Given the description of an element on the screen output the (x, y) to click on. 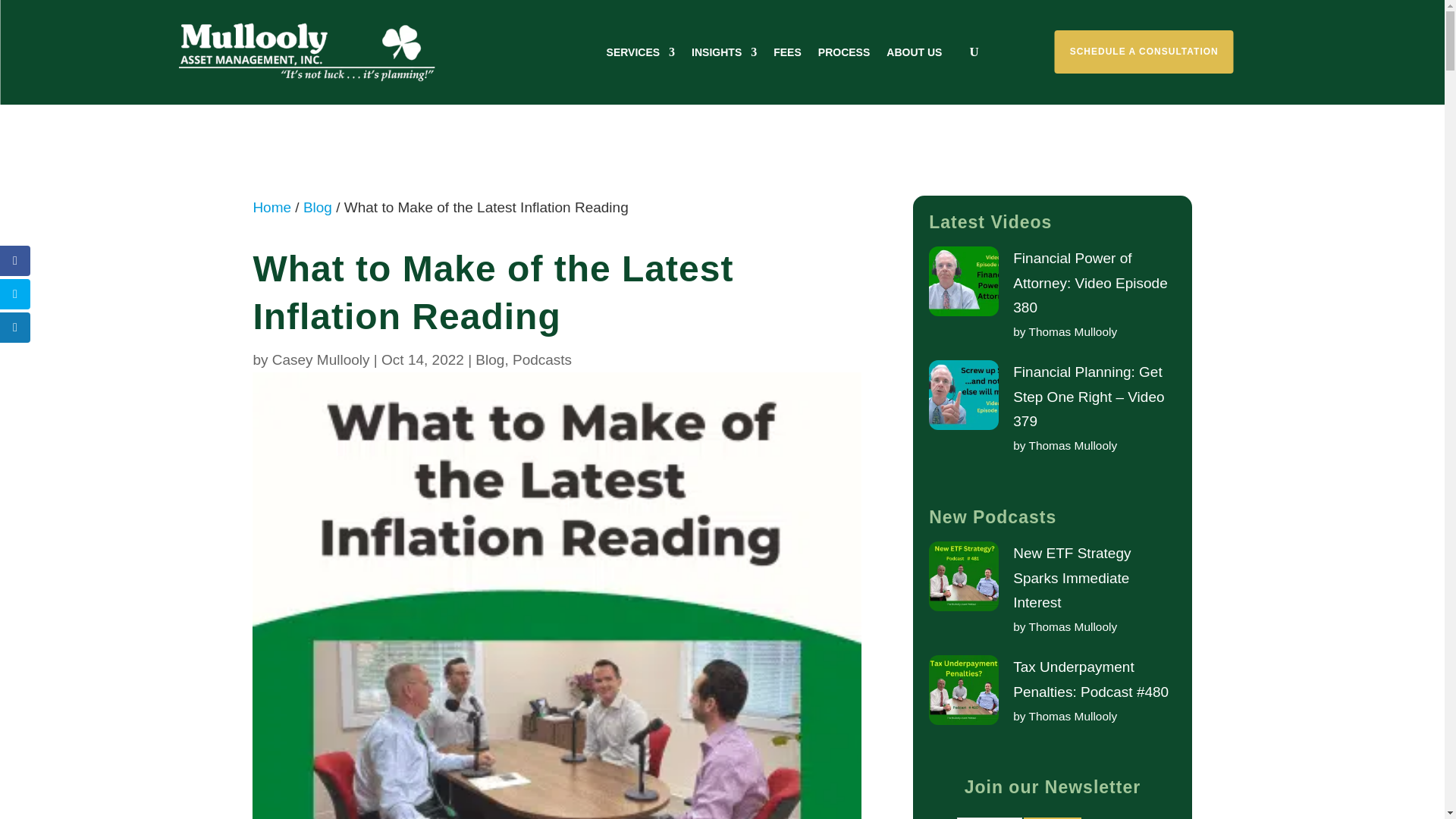
About Mullooly (914, 51)
Podcasts (542, 359)
PROCESS (843, 51)
Our Fees (787, 51)
Blog (316, 207)
INSIGHTS (724, 51)
SERVICES (641, 51)
FEES (787, 51)
Financial Services (641, 51)
Casey Mullooly (320, 359)
SCHEDULE A CONSULTATION (1143, 51)
Home (271, 207)
Blog (489, 359)
ABOUT US (914, 51)
